Given the description of an element on the screen output the (x, y) to click on. 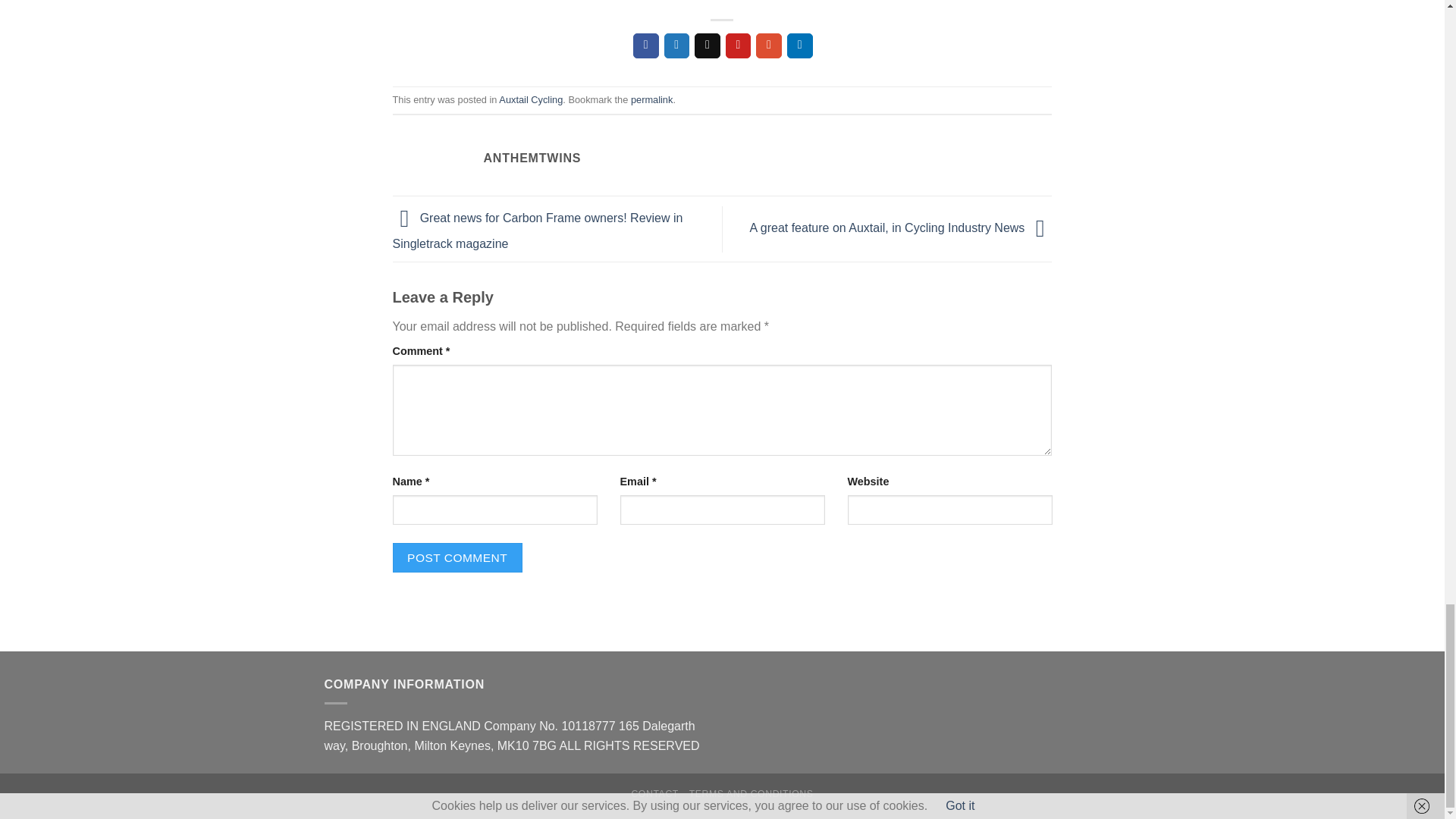
permalink (651, 99)
A great feature on Auxtail, in Cycling Industry News (900, 228)
Post Comment (457, 557)
CONTACT (654, 793)
Auxtail Cycling (530, 99)
Post Comment (457, 557)
TERMS AND CONDITIONS (750, 793)
Permalink to 5 ways cycling can improve your health (651, 99)
